Given the description of an element on the screen output the (x, y) to click on. 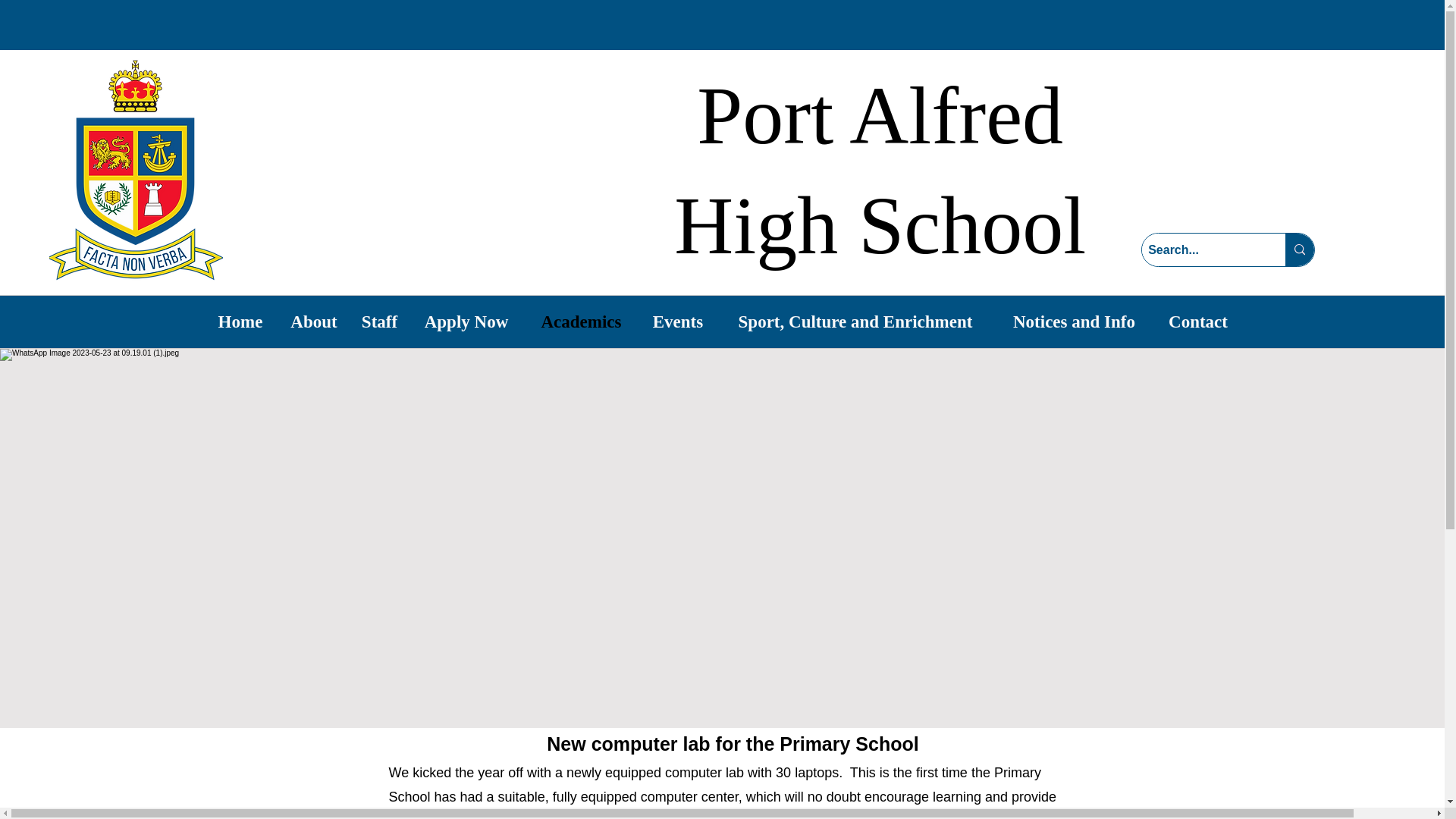
About (313, 321)
Home (240, 321)
Academics (580, 321)
Apply Now (466, 321)
Events (677, 321)
Staff (379, 321)
Sport, Culture and Enrichment (855, 321)
Notices and Info (1073, 321)
Contact (1197, 321)
